Given the description of an element on the screen output the (x, y) to click on. 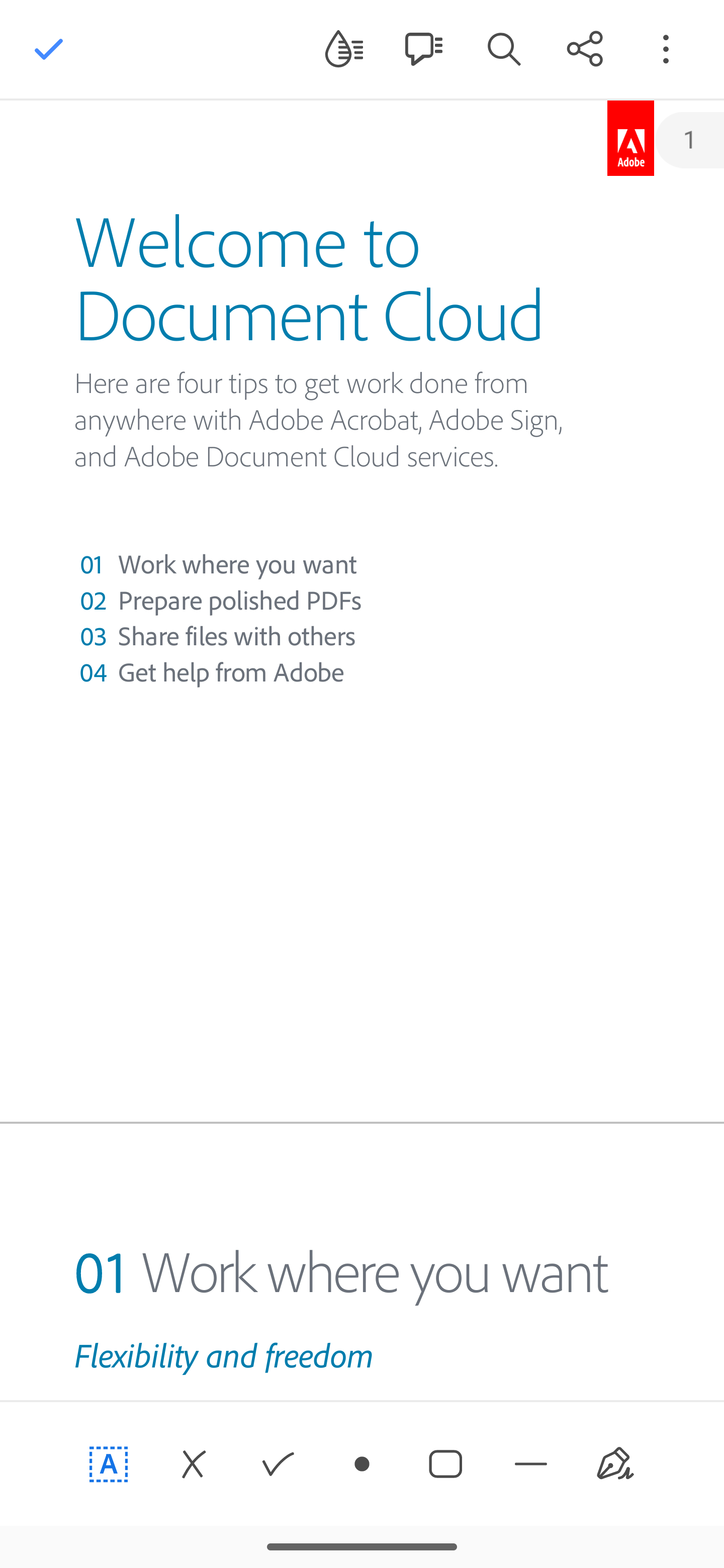
Done (49, 49)
Turn on Liquid Mode (343, 48)
Find keyword in document (503, 48)
Share this document with others (584, 48)
More options (665, 48)
Comments (423, 48)
Fill in form fields (108, 1464)
Add a crossmark (192, 1464)
Add a checkmark (277, 1464)
Add a filled dot (361, 1464)
Draw a rectangle with rounded corners (445, 1464)
Draw a line (530, 1464)
Add your signature or initials (615, 1464)
